Given the description of an element on the screen output the (x, y) to click on. 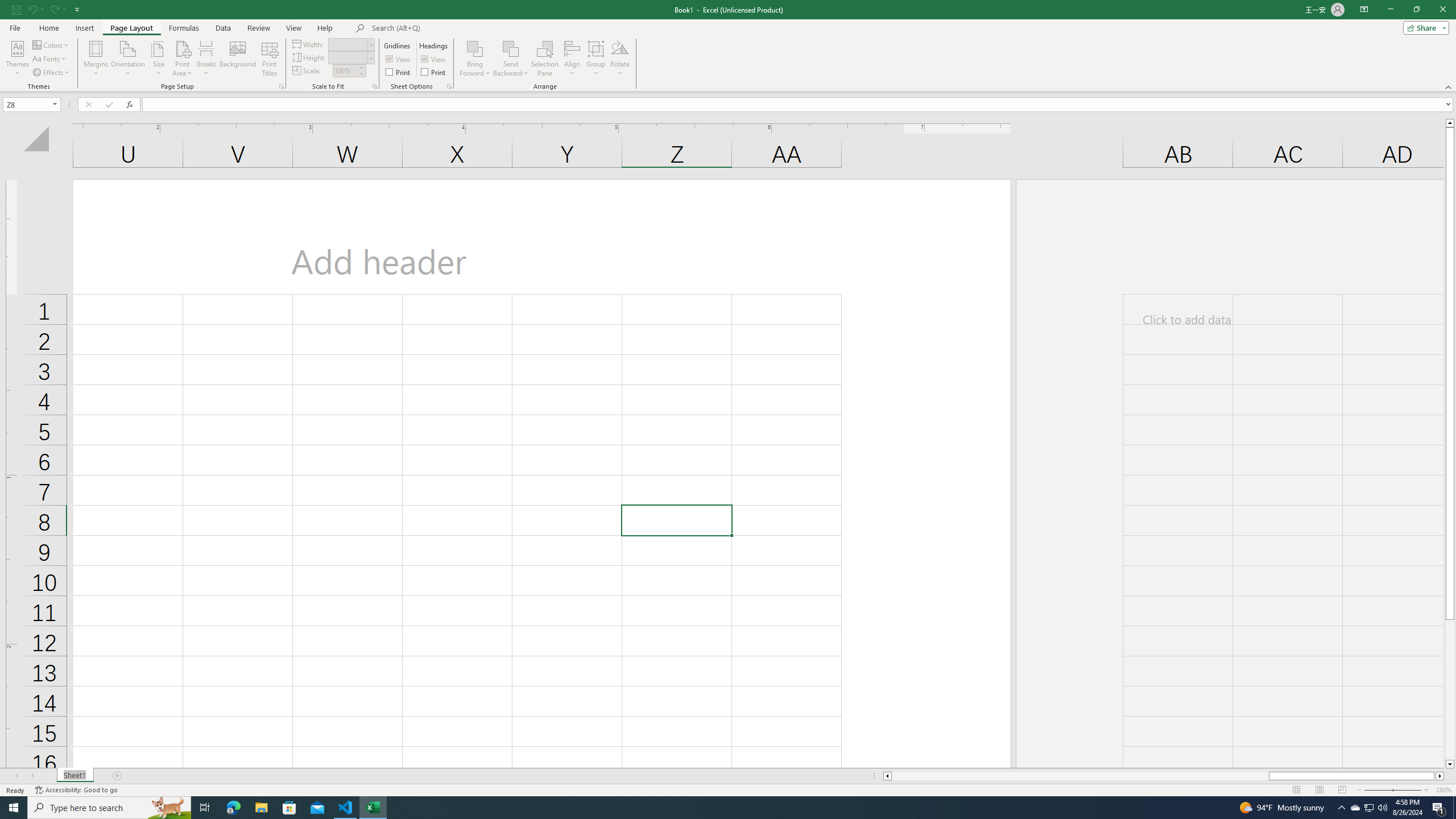
Effects (51, 72)
System (6, 6)
Margins (95, 58)
Background... (237, 58)
Collapse the Ribbon (1448, 86)
Print (434, 71)
Rotate (619, 58)
Microsoft search (450, 28)
Align (571, 58)
Data (223, 28)
Accessibility Checker Accessibility: Good to go (76, 790)
Redo (57, 9)
Name Box (27, 104)
Bring Forward (475, 48)
